Given the description of an element on the screen output the (x, y) to click on. 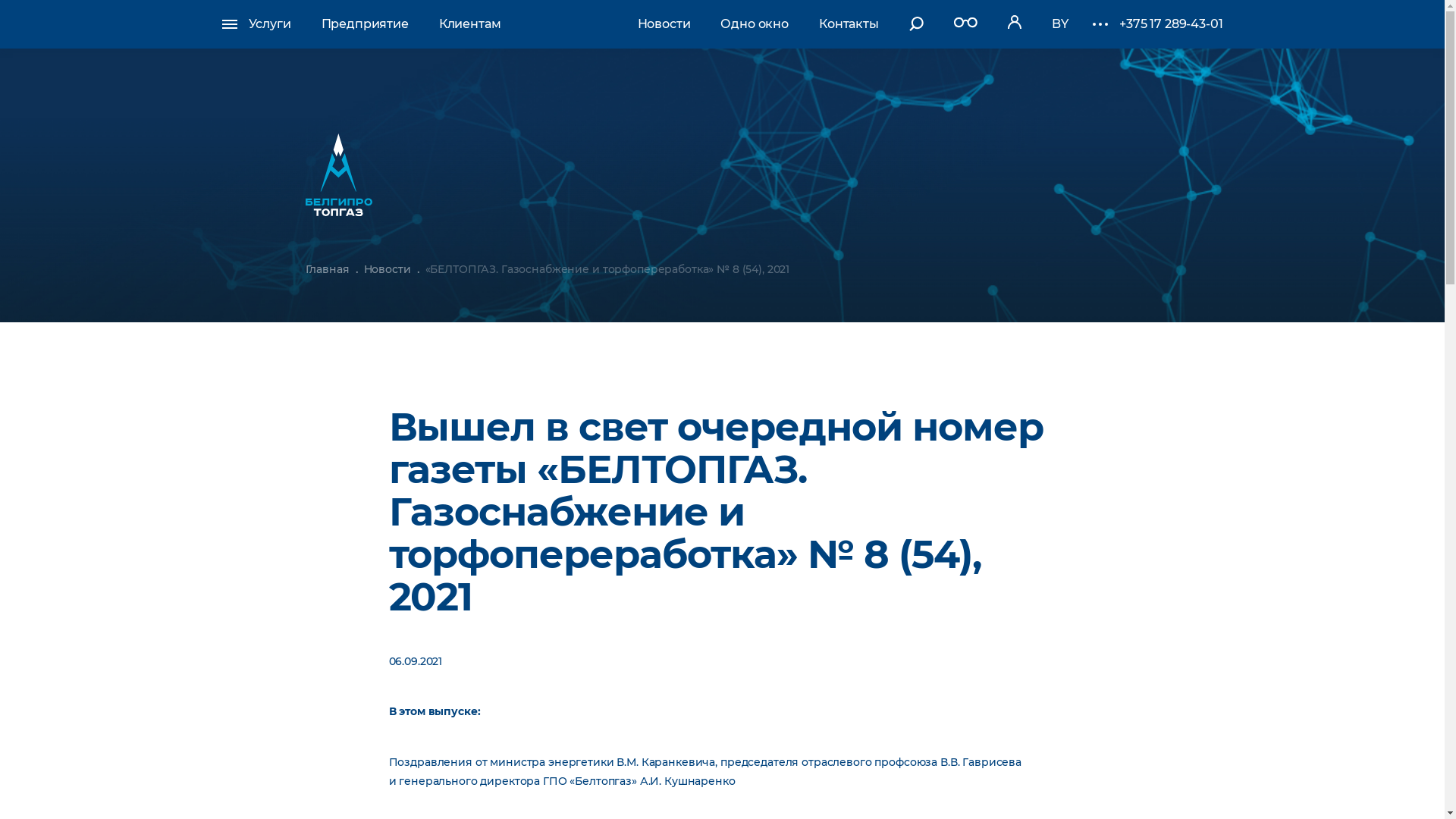
+375 17 289-43-01 Element type: text (1170, 24)
BY Element type: text (1059, 24)
